Given the description of an element on the screen output the (x, y) to click on. 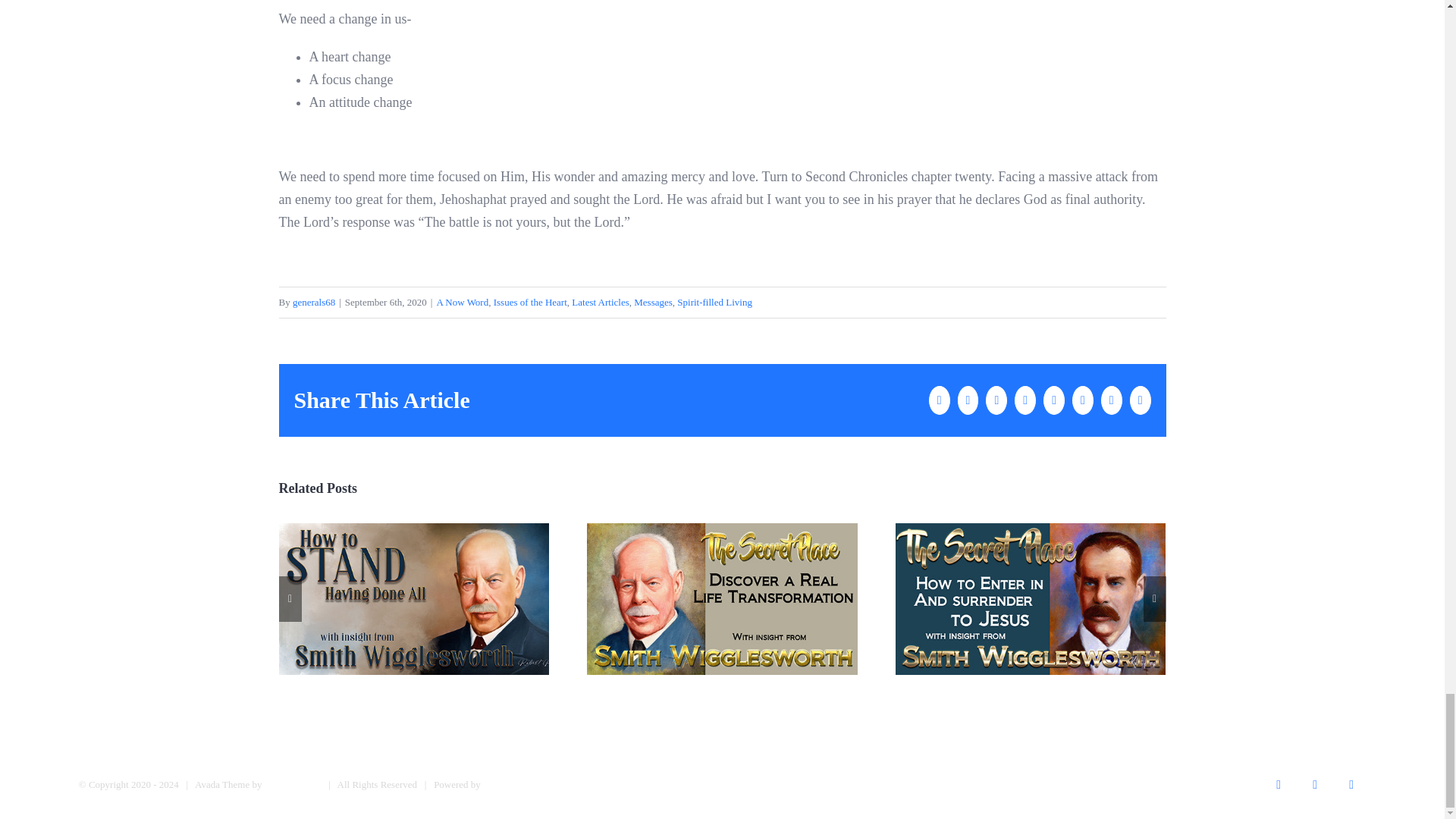
Posts by generals68 (313, 301)
Facebook (1277, 784)
Latest Articles (600, 301)
Spirit-filled Living (714, 301)
YouTube (1314, 784)
Issues of the Heart (530, 301)
A Now Word (461, 301)
generals68 (313, 301)
Messages (652, 301)
Instagram (1350, 784)
